Given the description of an element on the screen output the (x, y) to click on. 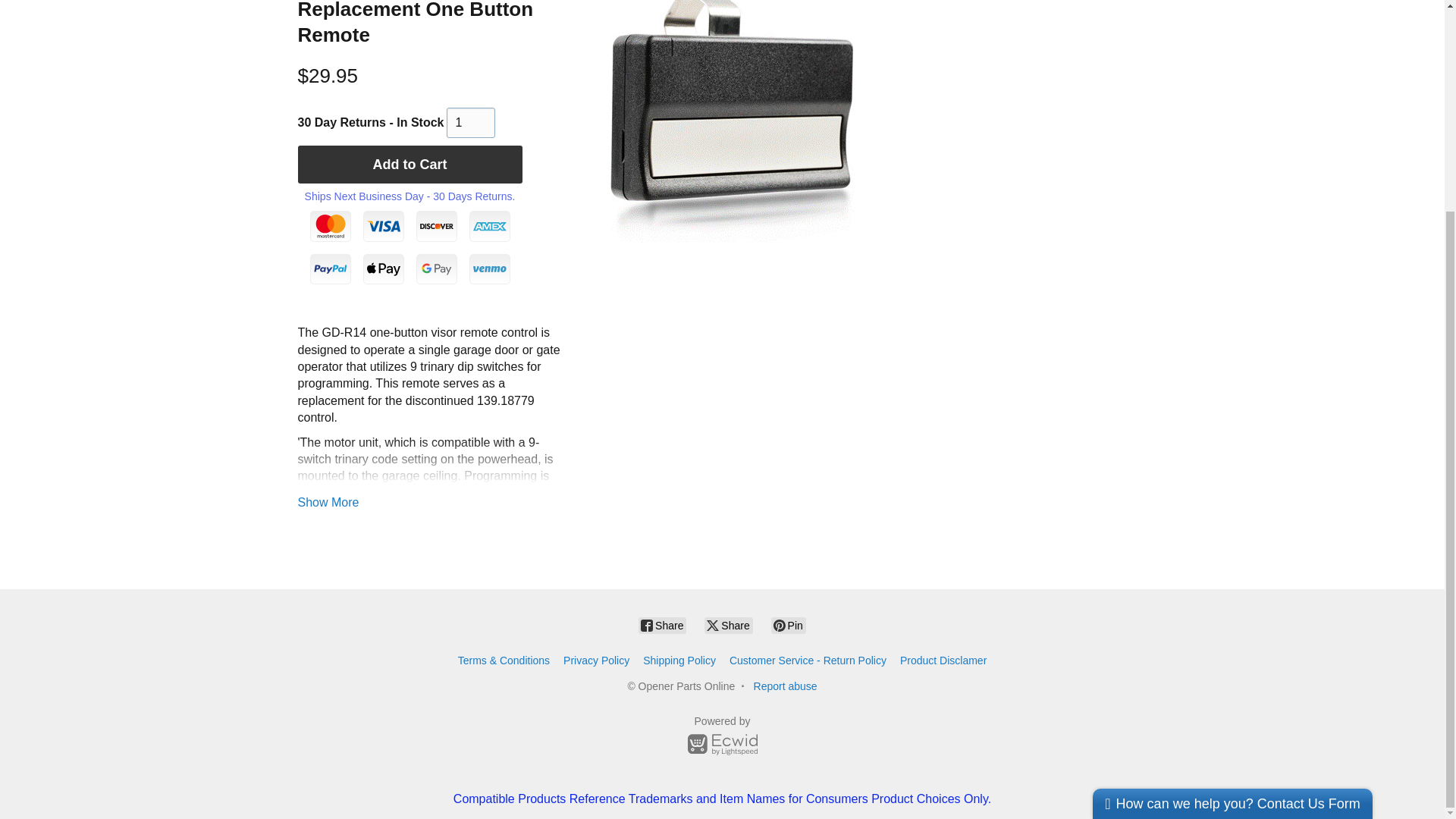
139.18779 Craftsman Opener Replacement One Button Remote (731, 121)
